Given the description of an element on the screen output the (x, y) to click on. 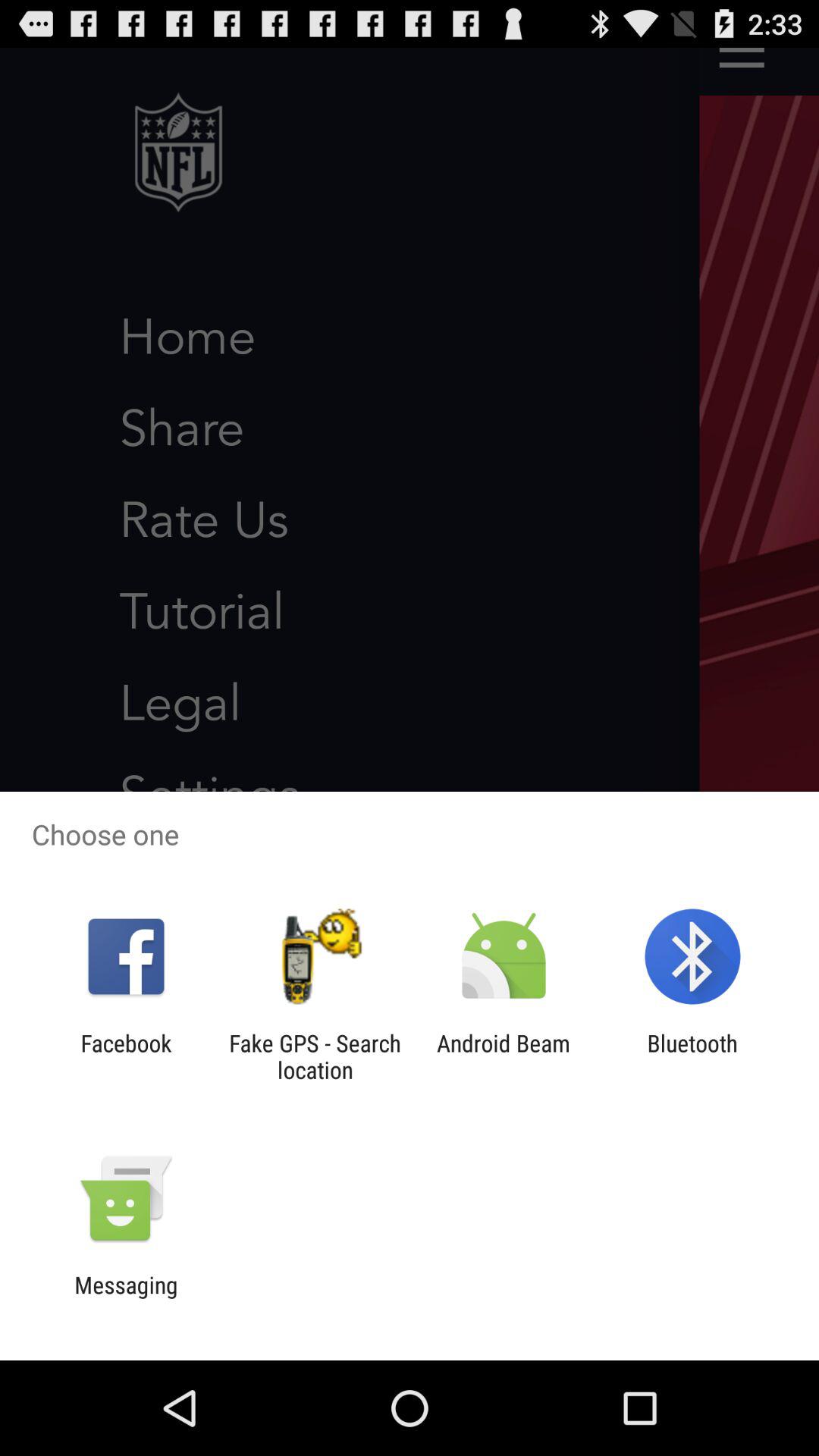
open icon next to facebook (314, 1056)
